Given the description of an element on the screen output the (x, y) to click on. 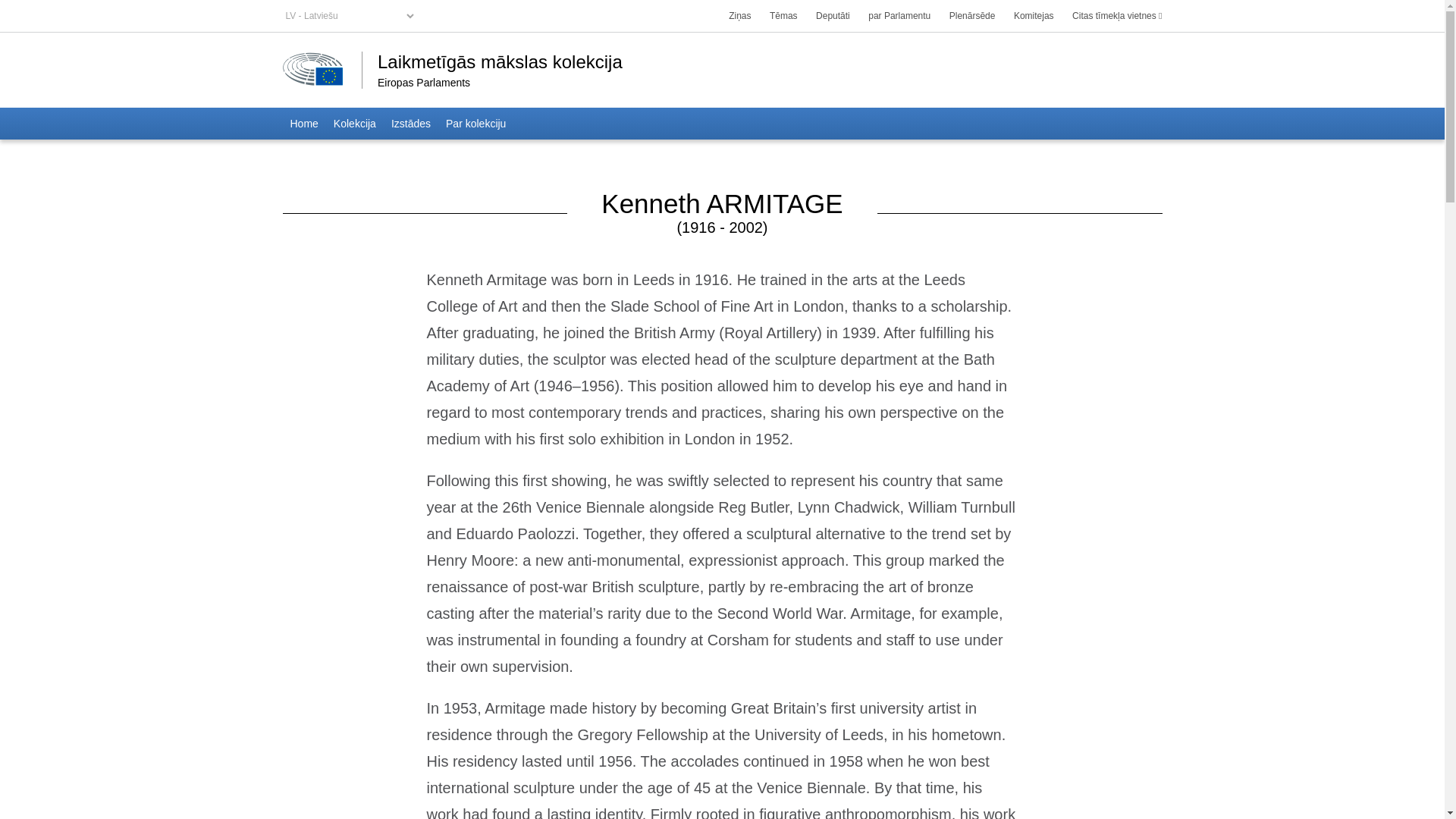
Komitejas (1033, 15)
par Parlamentu (898, 15)
Par kolekciju (475, 123)
Komitejas (1033, 15)
Kolekcija (355, 123)
Eiropas Parlaments (502, 82)
par Parlamentu (898, 15)
Home (303, 123)
